Given the description of an element on the screen output the (x, y) to click on. 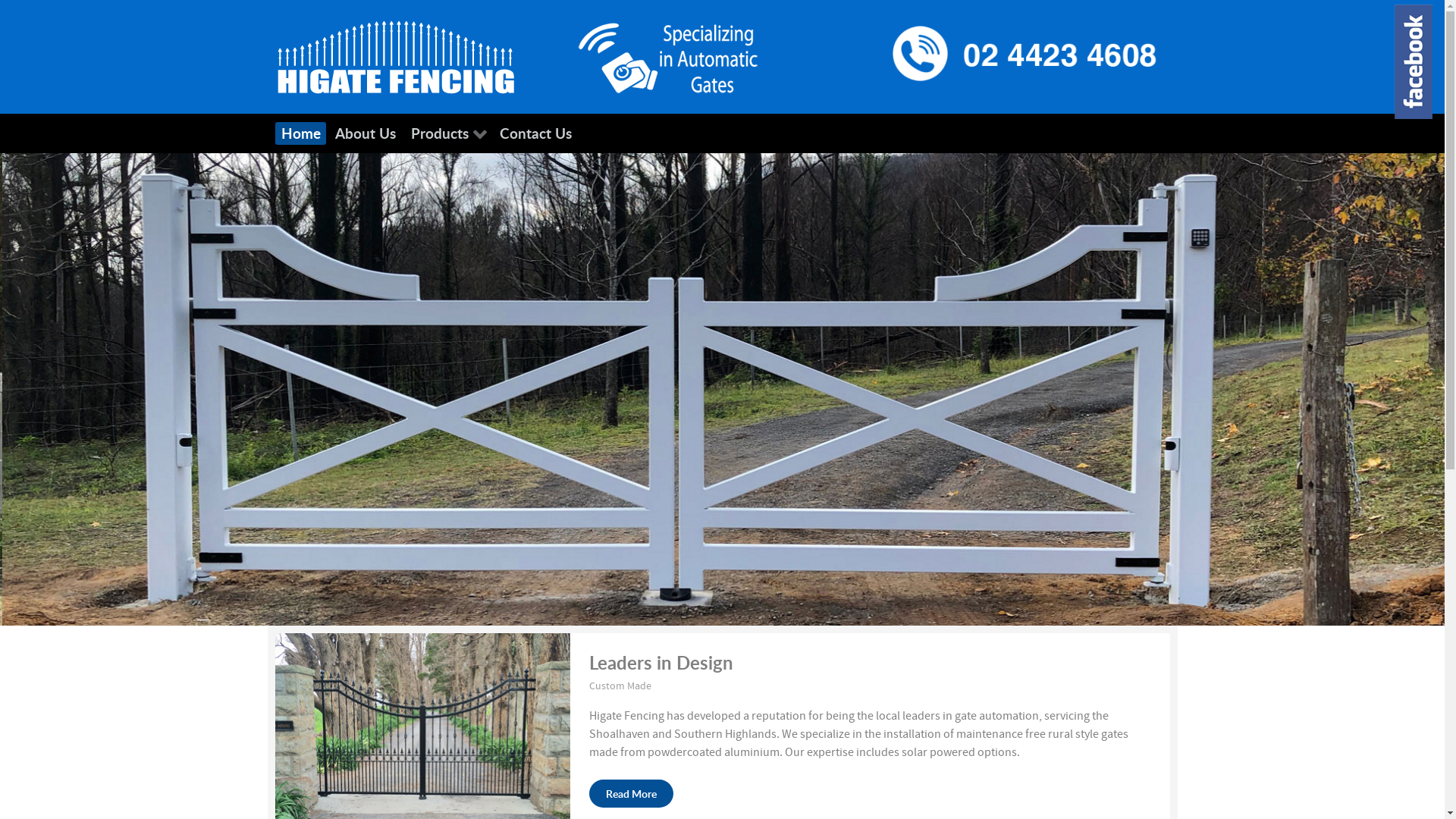
About Us Element type: text (365, 133)
Callisto Element type: hover (667, 55)
Callisto Element type: hover (394, 55)
Read More Element type: text (631, 793)
Contact Us Element type: text (535, 133)
Home Element type: text (300, 133)
